Given the description of an element on the screen output the (x, y) to click on. 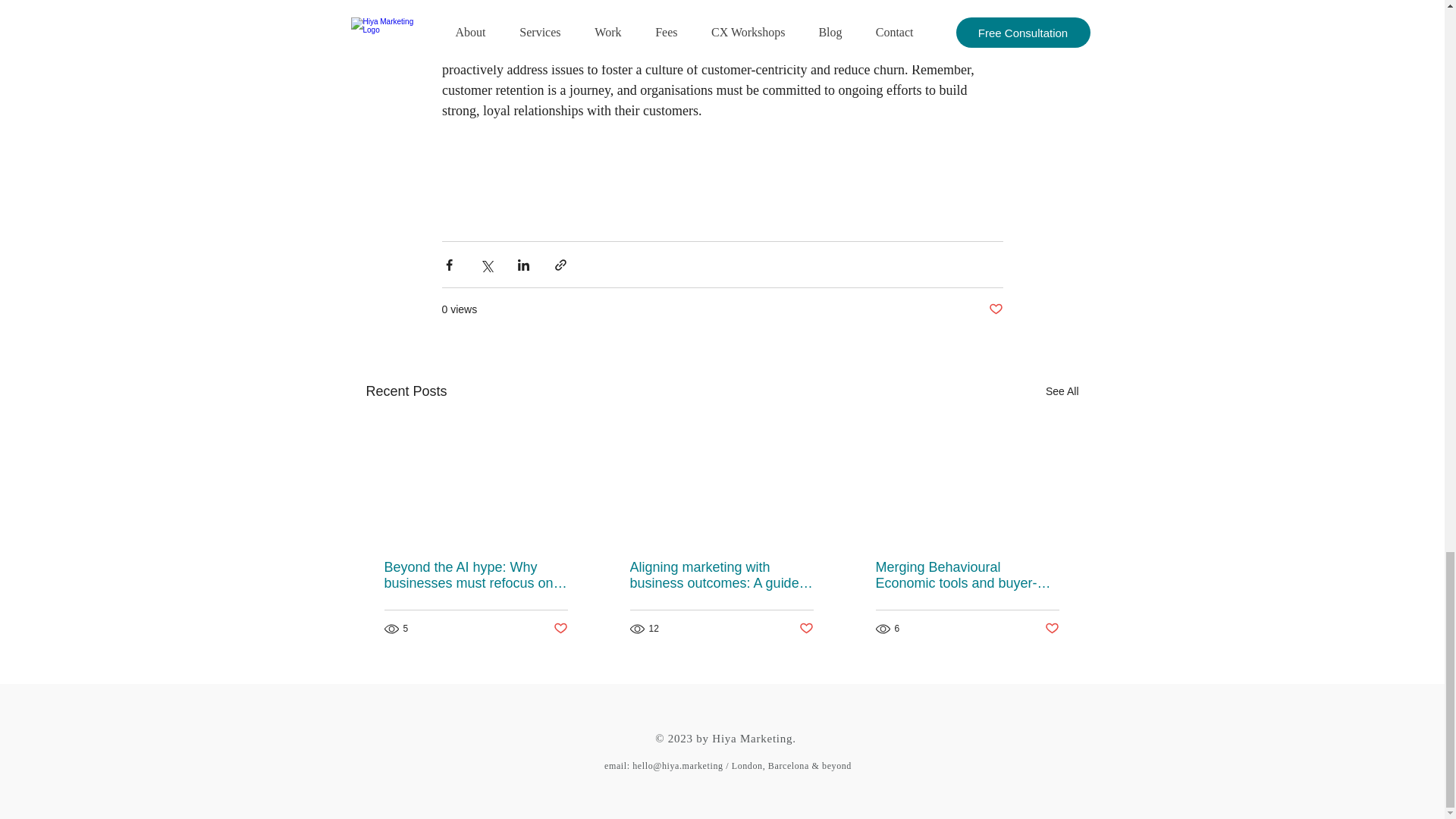
Post not marked as liked (560, 628)
Post not marked as liked (806, 628)
See All (1061, 391)
Post not marked as liked (1052, 628)
Post not marked as liked (995, 309)
